Given the description of an element on the screen output the (x, y) to click on. 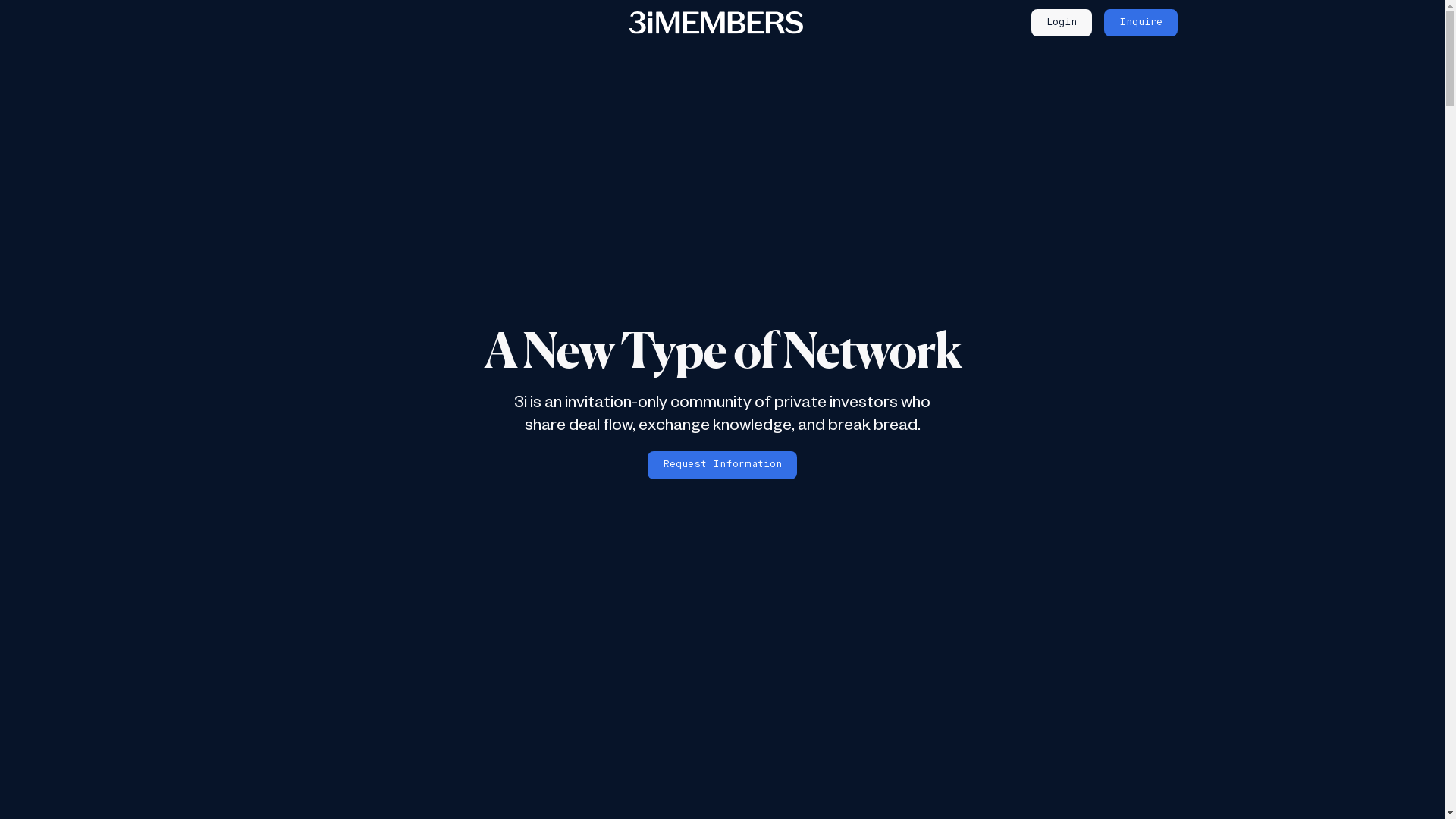
Login Element type: text (1061, 23)
Request Information Element type: text (722, 465)
Inquire Element type: text (1140, 23)
